Given the description of an element on the screen output the (x, y) to click on. 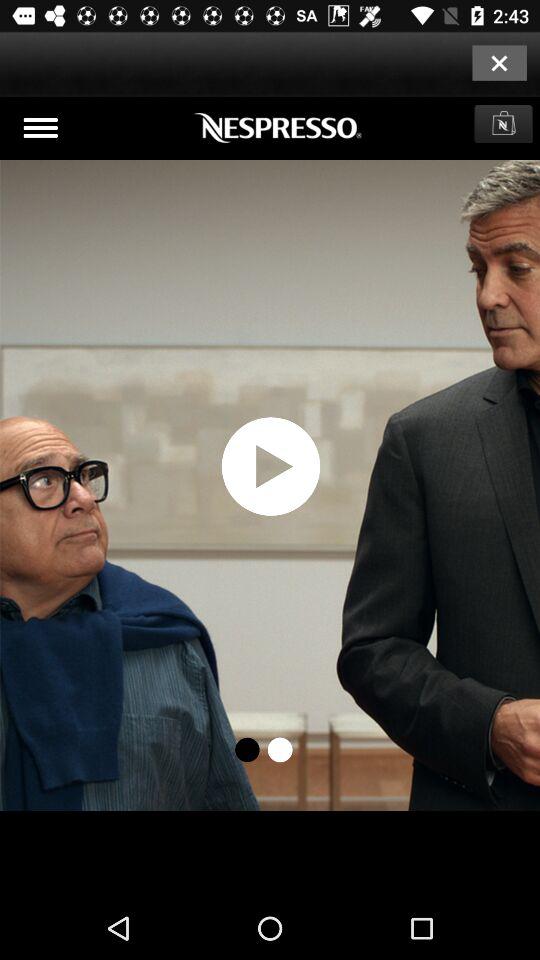
video play (270, 497)
